Given the description of an element on the screen output the (x, y) to click on. 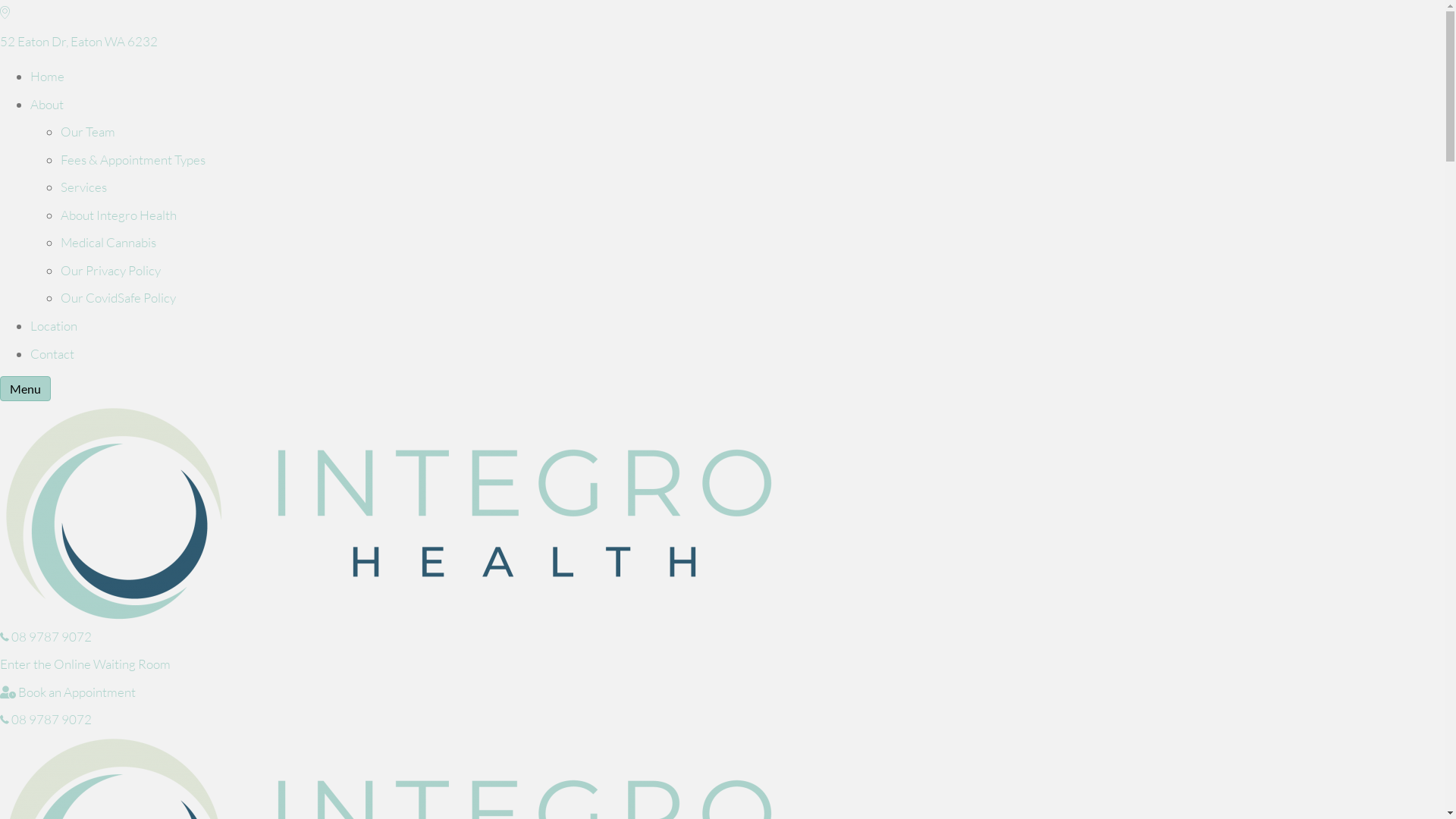
Book an Appointment Element type: text (67, 691)
Our Team Element type: text (87, 131)
52 Eaton Dr, Eaton WA 6232 Element type: text (722, 42)
Enter the Online Waiting Room Element type: text (85, 663)
Services Element type: text (83, 186)
Our CovidSafe Policy Element type: text (117, 297)
Home Element type: text (47, 76)
Fees & Appointment Types Element type: text (132, 159)
About Element type: text (46, 104)
08 9787 9072 Element type: text (45, 636)
About Integro Health Element type: text (118, 214)
Contact Element type: text (52, 353)
08 9787 9072 Element type: text (45, 719)
Medical Cannabis Element type: text (108, 242)
Location Element type: text (53, 325)
Our Privacy Policy Element type: text (110, 270)
Integro_logo_final-04 Element type: hover (388, 513)
Menu Element type: text (25, 388)
